Given the description of an element on the screen output the (x, y) to click on. 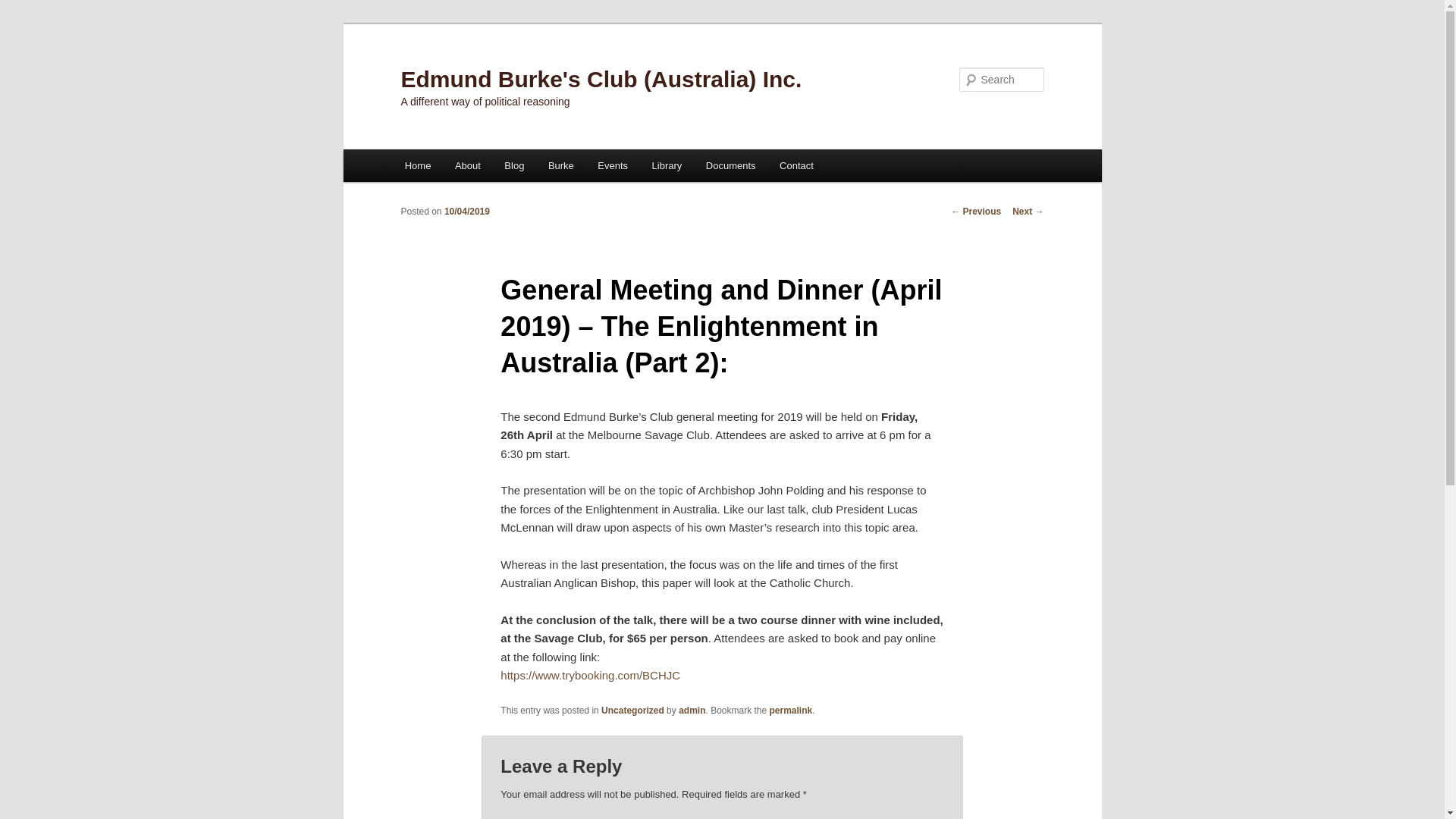
permalink Element type: text (790, 710)
10/04/2019 Element type: text (466, 211)
Contact Element type: text (796, 165)
Blog Element type: text (514, 165)
Uncategorized Element type: text (632, 710)
Search Element type: text (24, 8)
Documents Element type: text (730, 165)
Skip to secondary content Element type: text (479, 168)
Skip to primary content Element type: text (472, 168)
Library Element type: text (666, 165)
About Element type: text (467, 165)
Edmund Burke's Club (Australia) Inc. Element type: text (600, 78)
Events Element type: text (613, 165)
admin Element type: text (691, 710)
https://www.trybooking.com/BCHJC Element type: text (590, 674)
Burke Element type: text (560, 165)
Home Element type: text (417, 165)
